Given the description of an element on the screen output the (x, y) to click on. 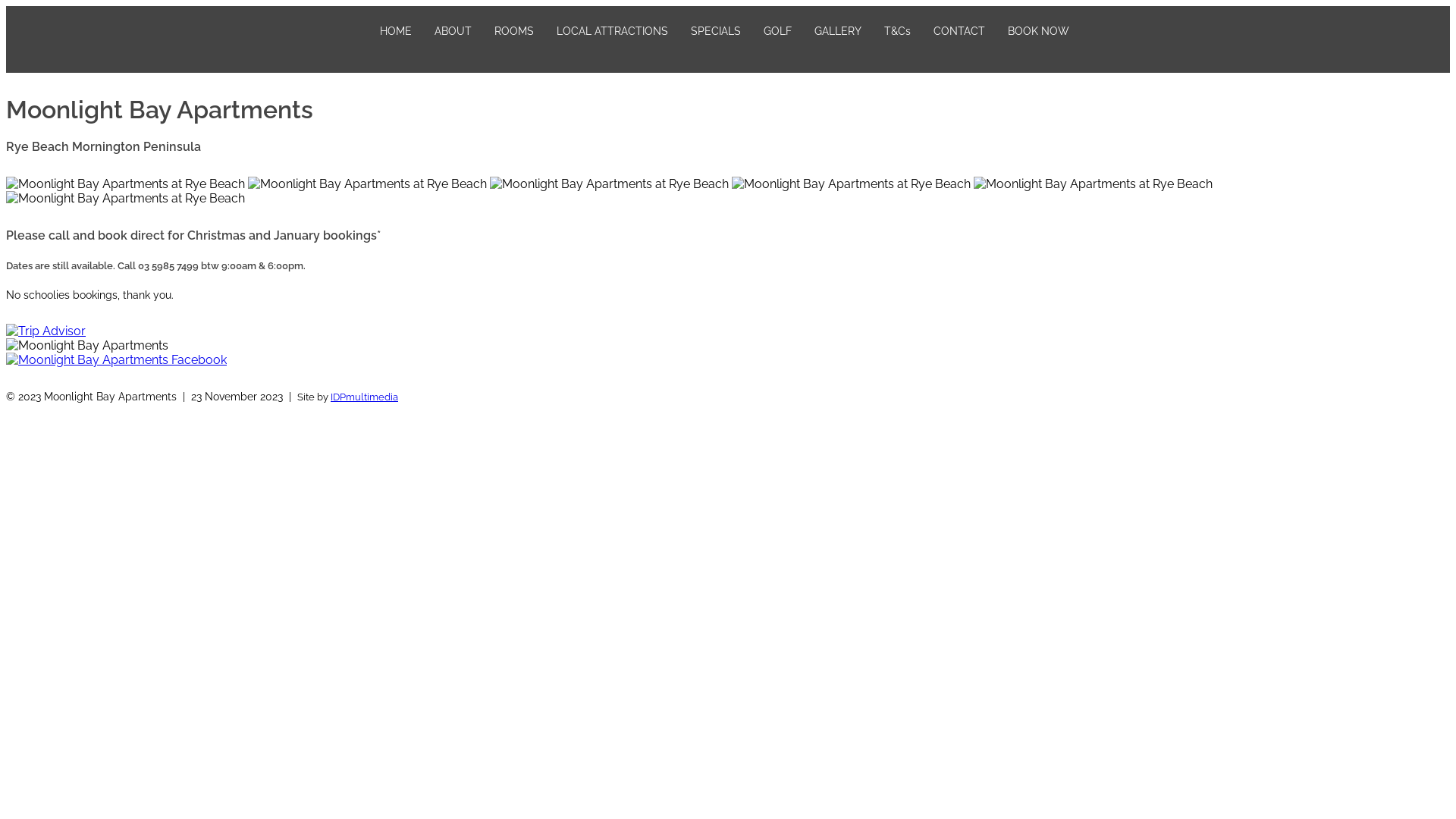
Moonlight Bay Apartments at Rye Beach Element type: hover (125, 183)
Moonlight Bay Apartments at Rye Beach Element type: hover (1092, 183)
GOLF Element type: text (776, 30)
ROOMS Element type: text (513, 30)
T&Cs Element type: text (897, 30)
Moonlight Bay Apartments Facebook Element type: hover (116, 359)
Trip Advisor Element type: hover (45, 330)
LOCAL ATTRACTIONS Element type: text (612, 30)
Moonlight Bay Apartments Element type: hover (87, 345)
ABOUT Element type: text (452, 30)
Moonlight Bay Apartments at Rye Beach Element type: hover (366, 183)
Moonlight Bay Apartments at Rye Beach Element type: hover (608, 183)
Moonlight Bay Apartments at Rye Beach Element type: hover (125, 198)
BOOK NOW Element type: text (1037, 30)
HOME Element type: text (394, 30)
CONTACT Element type: text (958, 30)
IDPmultimedia Element type: text (364, 396)
Moonlight Bay Apartments at Rye Beach Element type: hover (850, 183)
GALLERY Element type: text (837, 30)
SPECIALS Element type: text (714, 30)
